Given the description of an element on the screen output the (x, y) to click on. 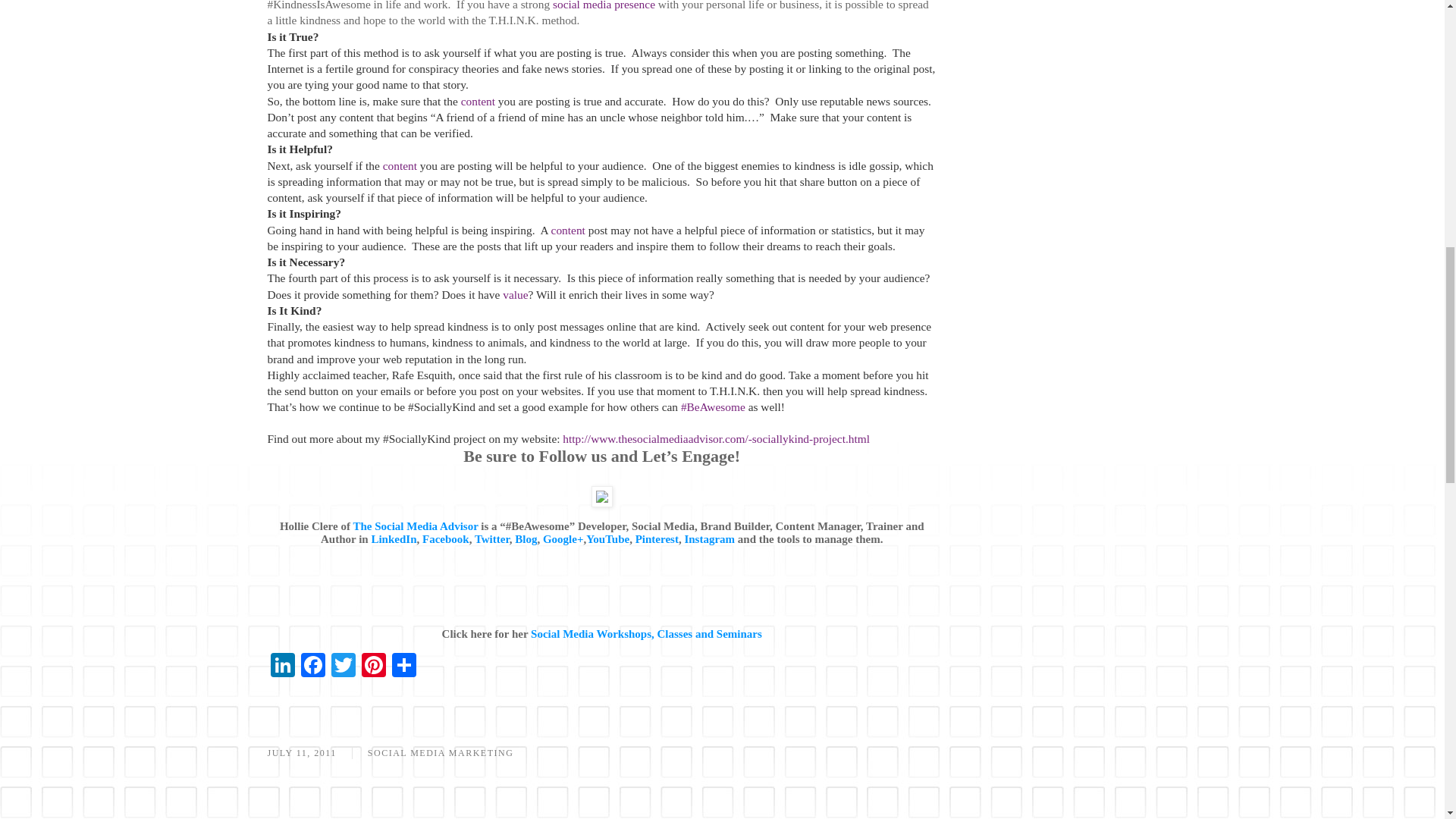
Pinterest (373, 666)
LinkedIn (281, 666)
Twitter (342, 666)
Facebook (312, 666)
